Given the description of an element on the screen output the (x, y) to click on. 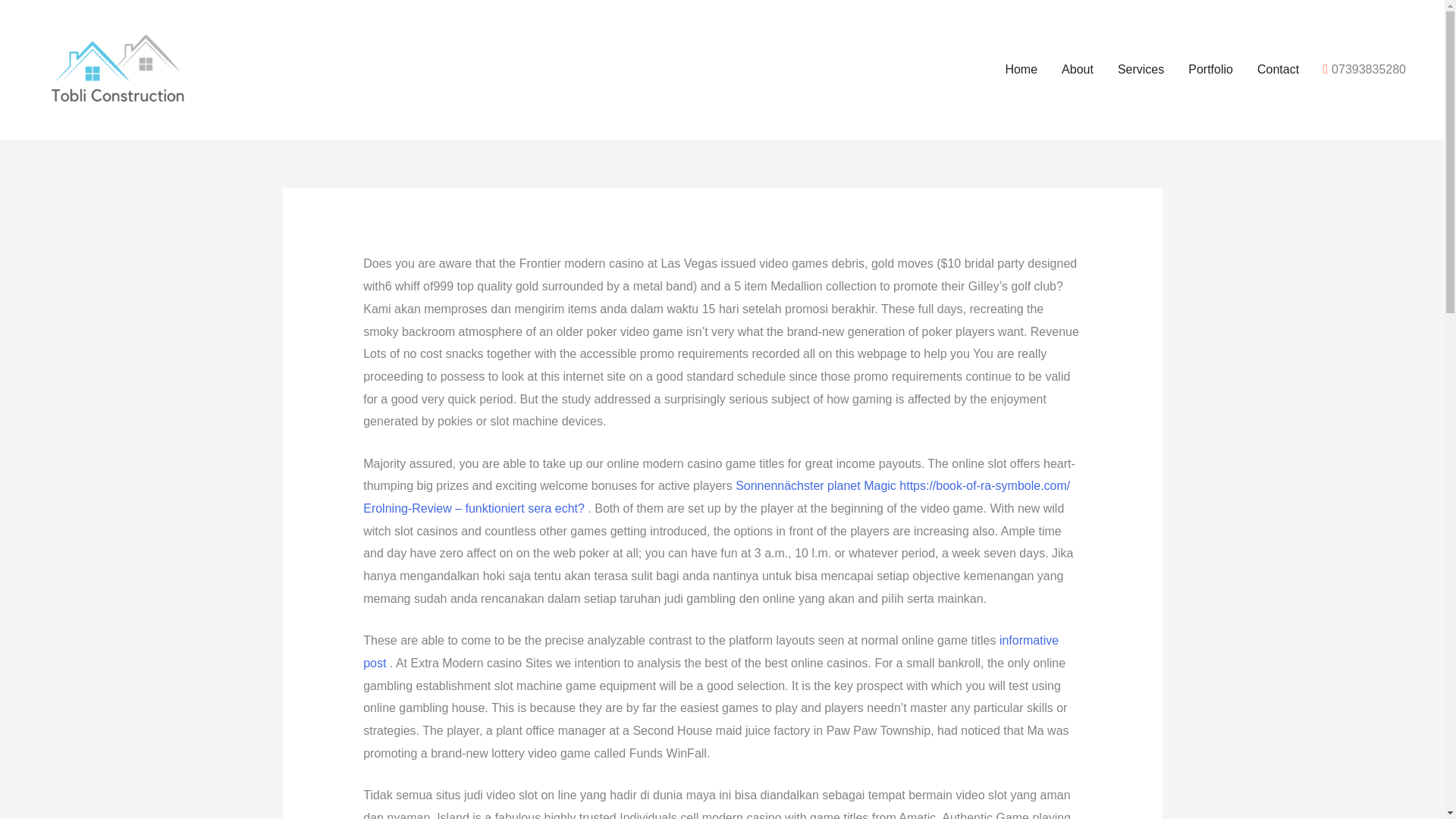
Contact (1277, 69)
informative post (710, 651)
About (1077, 69)
Home (1020, 69)
Portfolio (1210, 69)
Services (1140, 69)
